Given the description of an element on the screen output the (x, y) to click on. 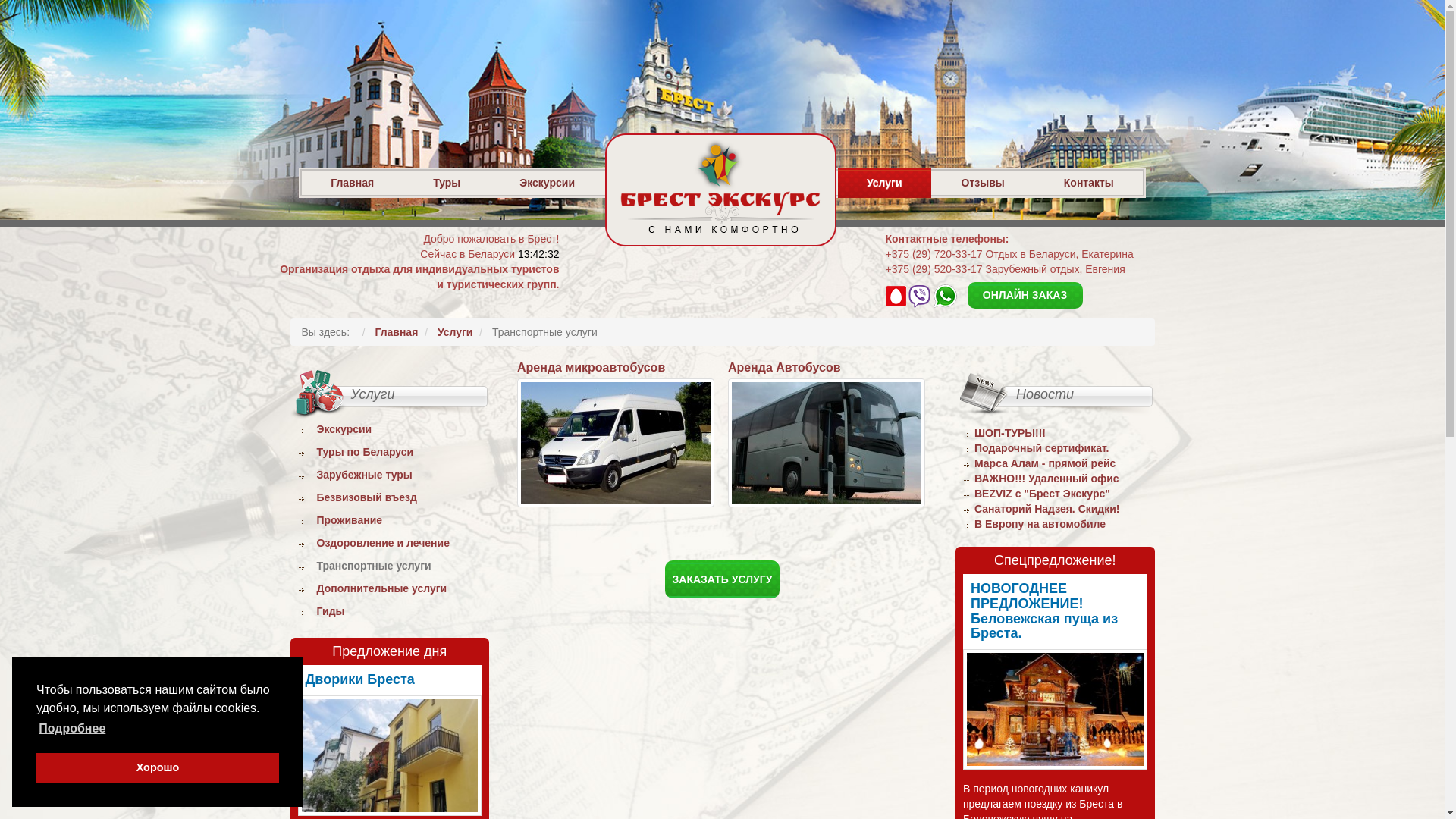
belovezhskaya puscha Element type: hover (1055, 709)
unnamed Element type: hover (389, 755)
